Given the description of an element on the screen output the (x, y) to click on. 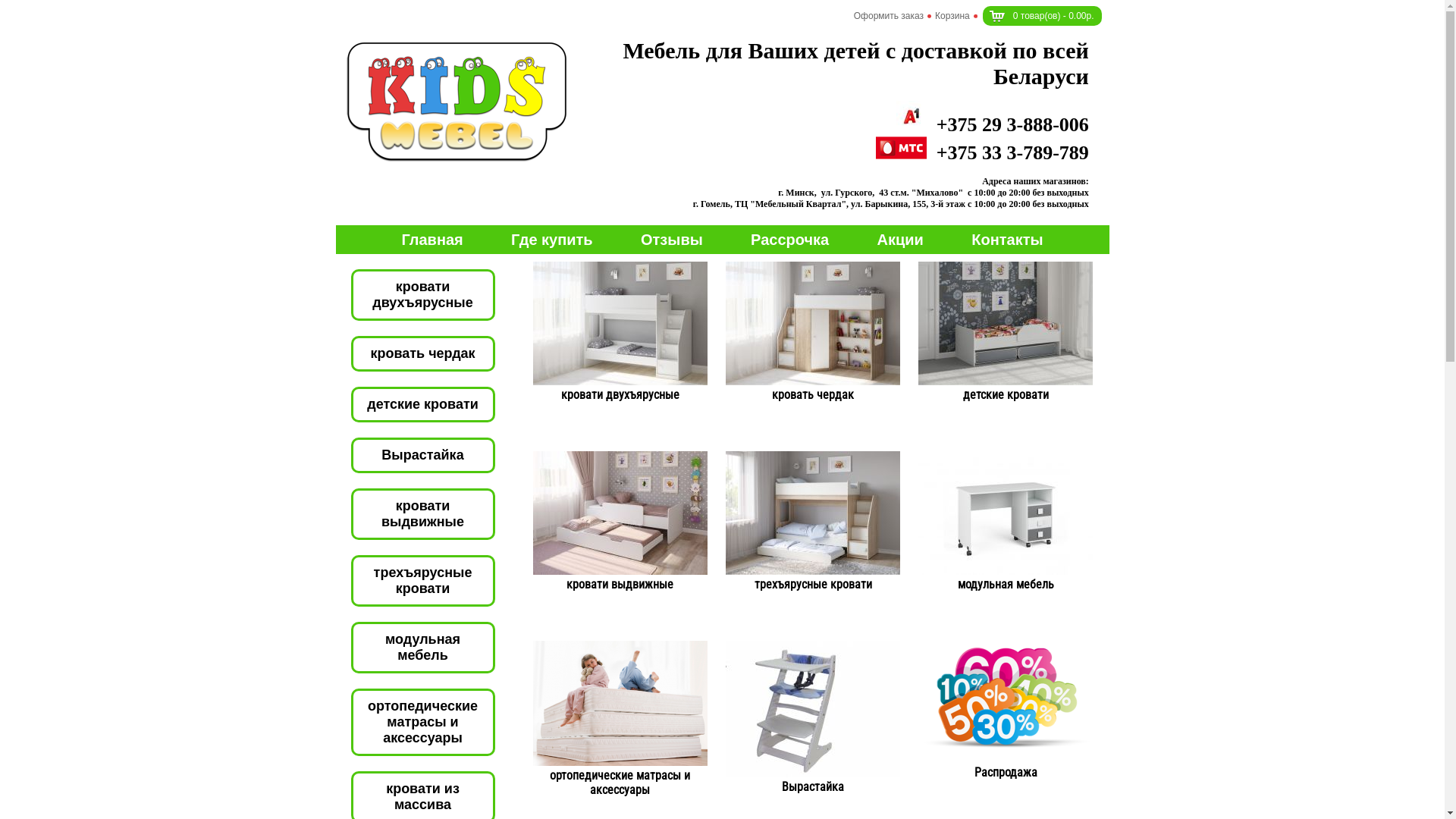
  +375 29 3-888-006 Element type: text (992, 124)
  +375 33 3-789-789 Element type: text (981, 152)
KIDS MEBEL Element type: hover (456, 100)
